Given the description of an element on the screen output the (x, y) to click on. 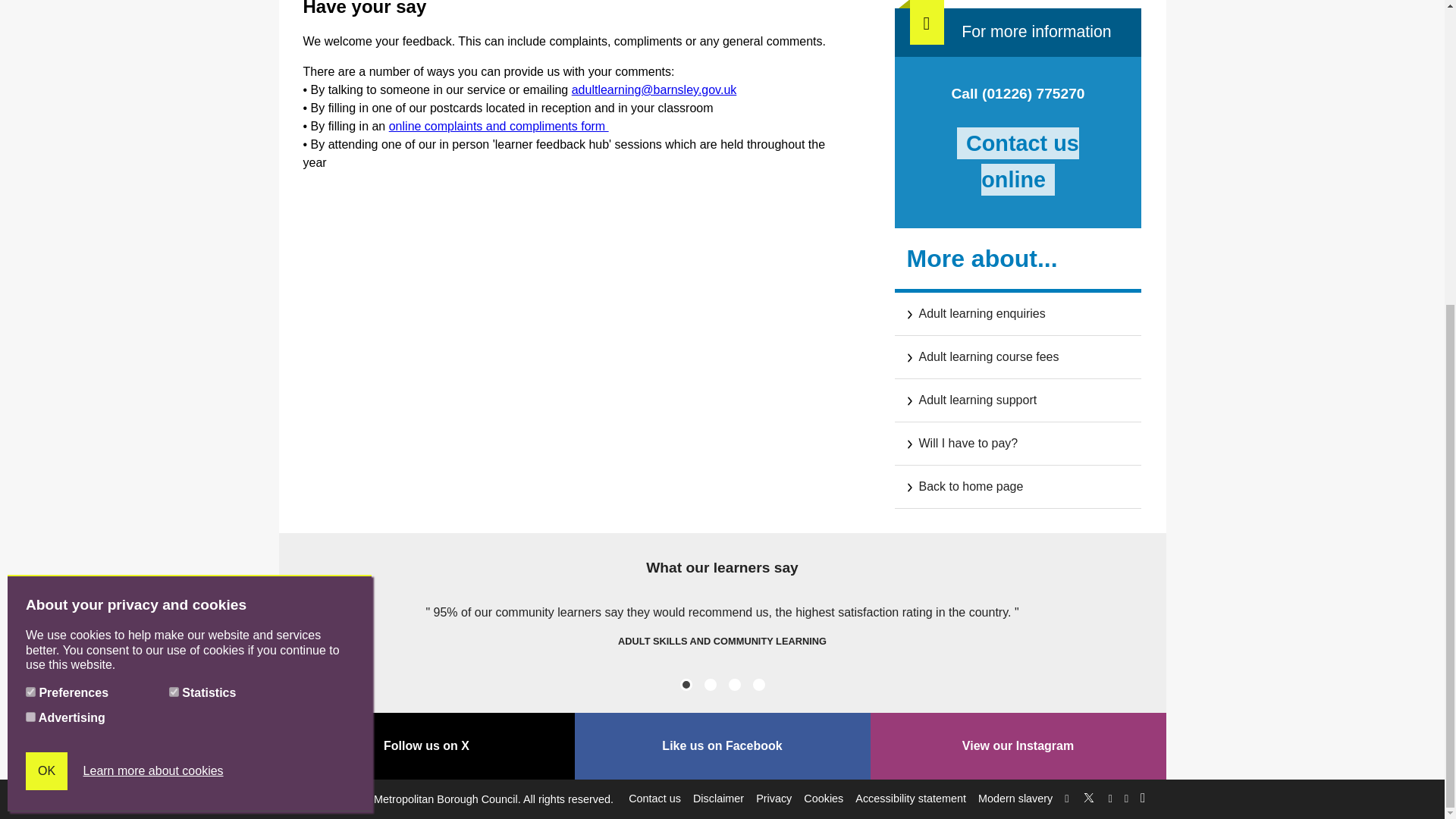
Adult learning support (1018, 400)
Complaints or compliments (498, 125)
Learn more about cookies (153, 292)
Contact us online (1017, 161)
Follow us on X (1088, 794)
View our Instagram (1018, 745)
Contact us (654, 798)
True (173, 213)
Disclaimer (718, 798)
Follow us on X (427, 745)
OK (46, 292)
Will I have to pay? (1018, 443)
OK (46, 292)
Like us on Facebook (722, 745)
Adult learning course fees (1018, 356)
